Given the description of an element on the screen output the (x, y) to click on. 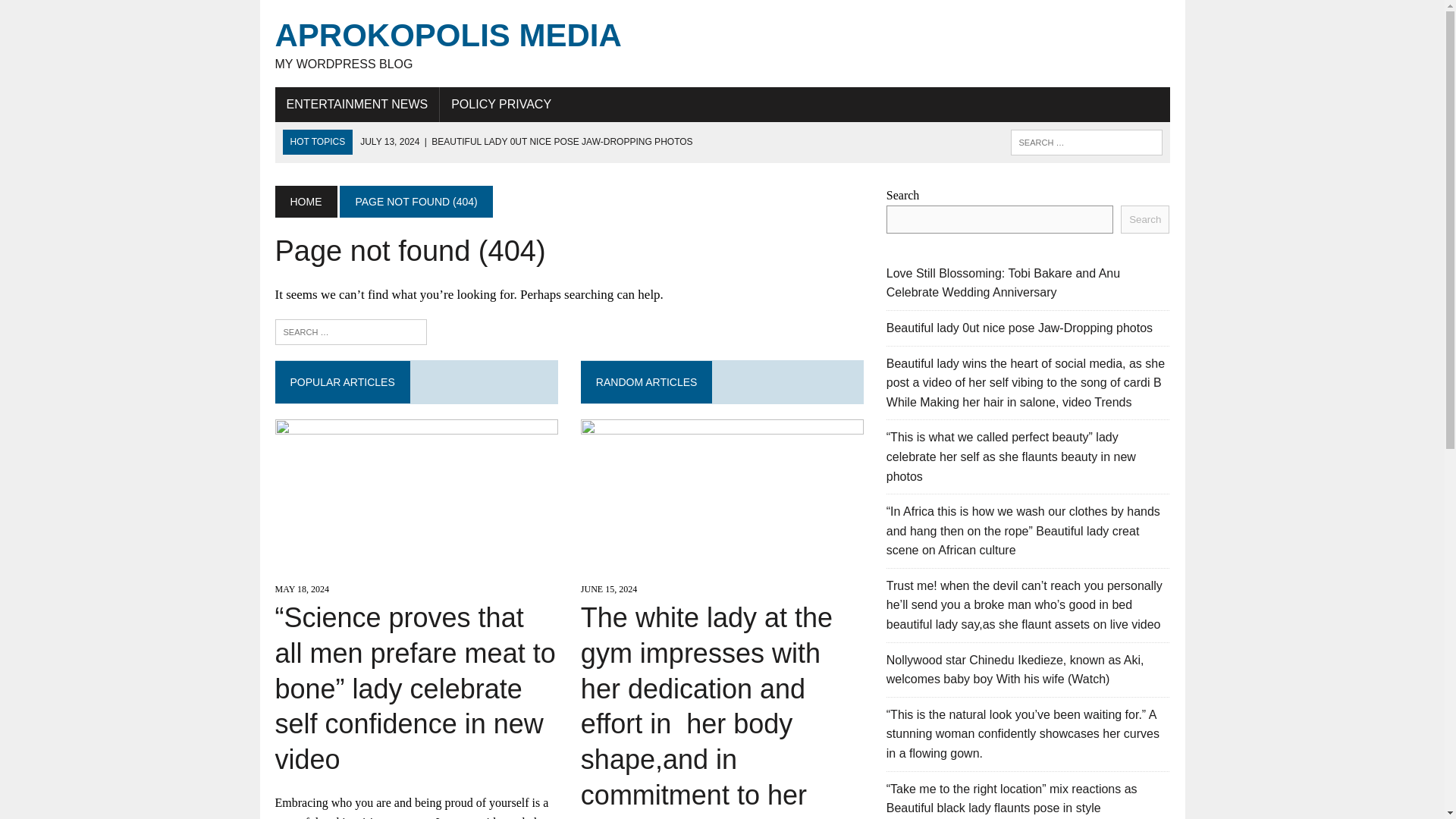
POLICY PRIVACY (500, 104)
Aprokopolis media (722, 43)
Beautiful lady 0ut nice pose Jaw-Dropping photos (526, 141)
Search (75, 14)
Beautiful lady 0ut nice pose Jaw-Dropping photos (1019, 327)
Search (1145, 219)
ENTERTAINMENT NEWS (357, 104)
